Given the description of an element on the screen output the (x, y) to click on. 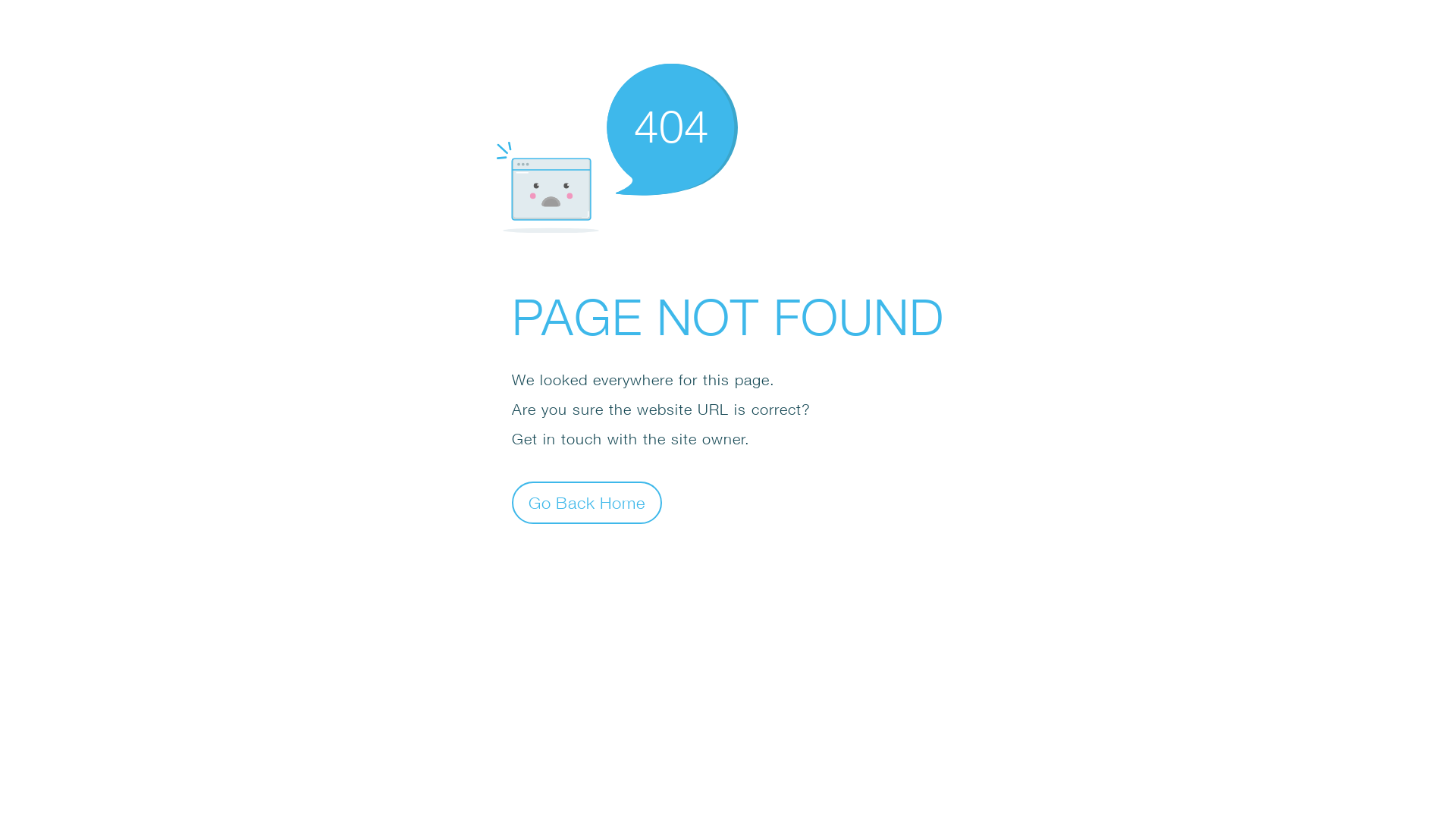
Go Back Home Element type: text (586, 502)
